Given the description of an element on the screen output the (x, y) to click on. 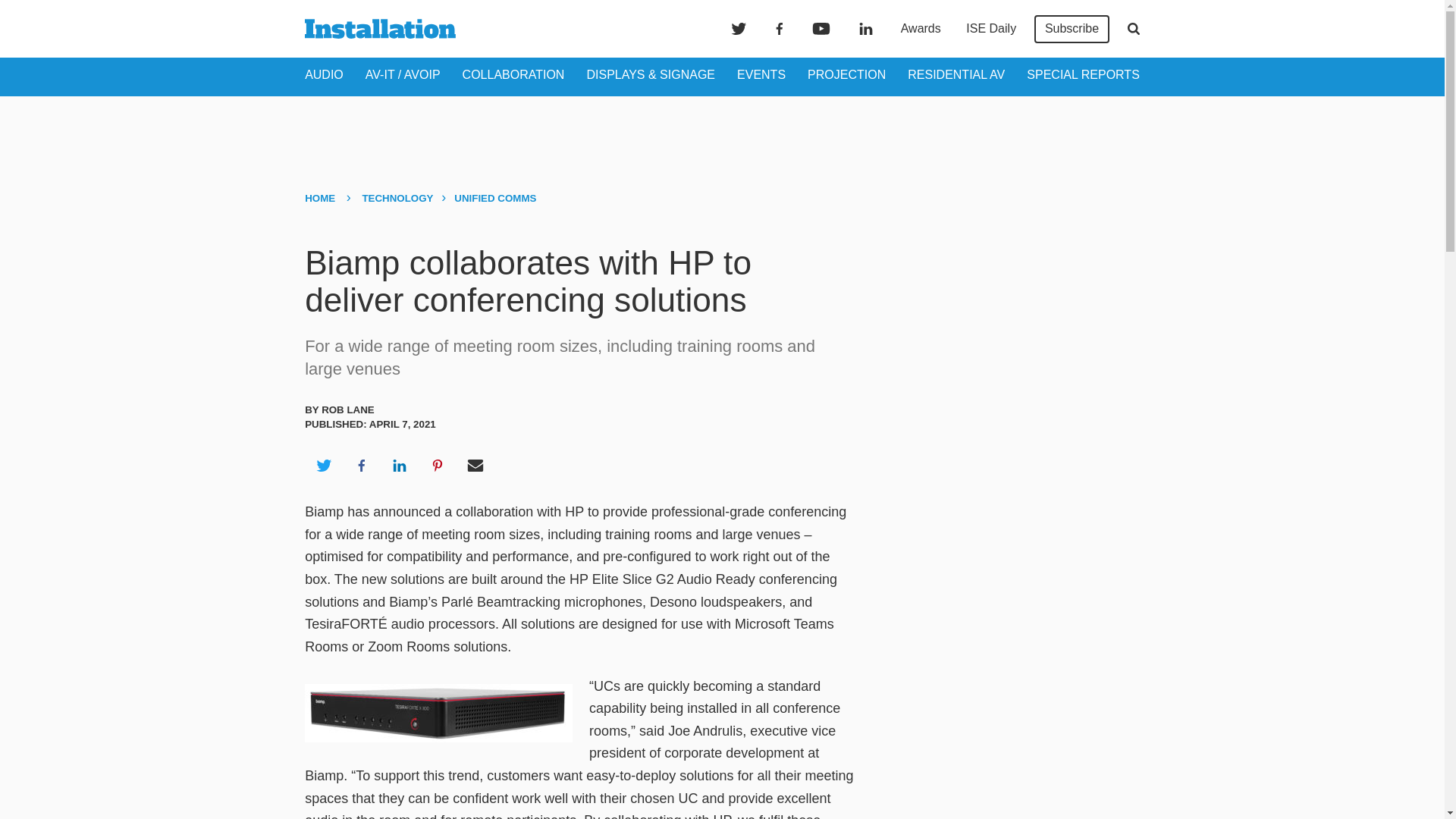
AUDIO (323, 74)
Share via Email (476, 465)
ISE Daily (990, 29)
Share on Facebook (361, 465)
Awards (921, 29)
Subscribe (1071, 29)
Share on Twitter (323, 465)
Share on Pinterest (438, 465)
Rob Lane's Author Profile (347, 409)
COLLABORATION (513, 74)
Share on LinkedIn (399, 465)
